Given the description of an element on the screen output the (x, y) to click on. 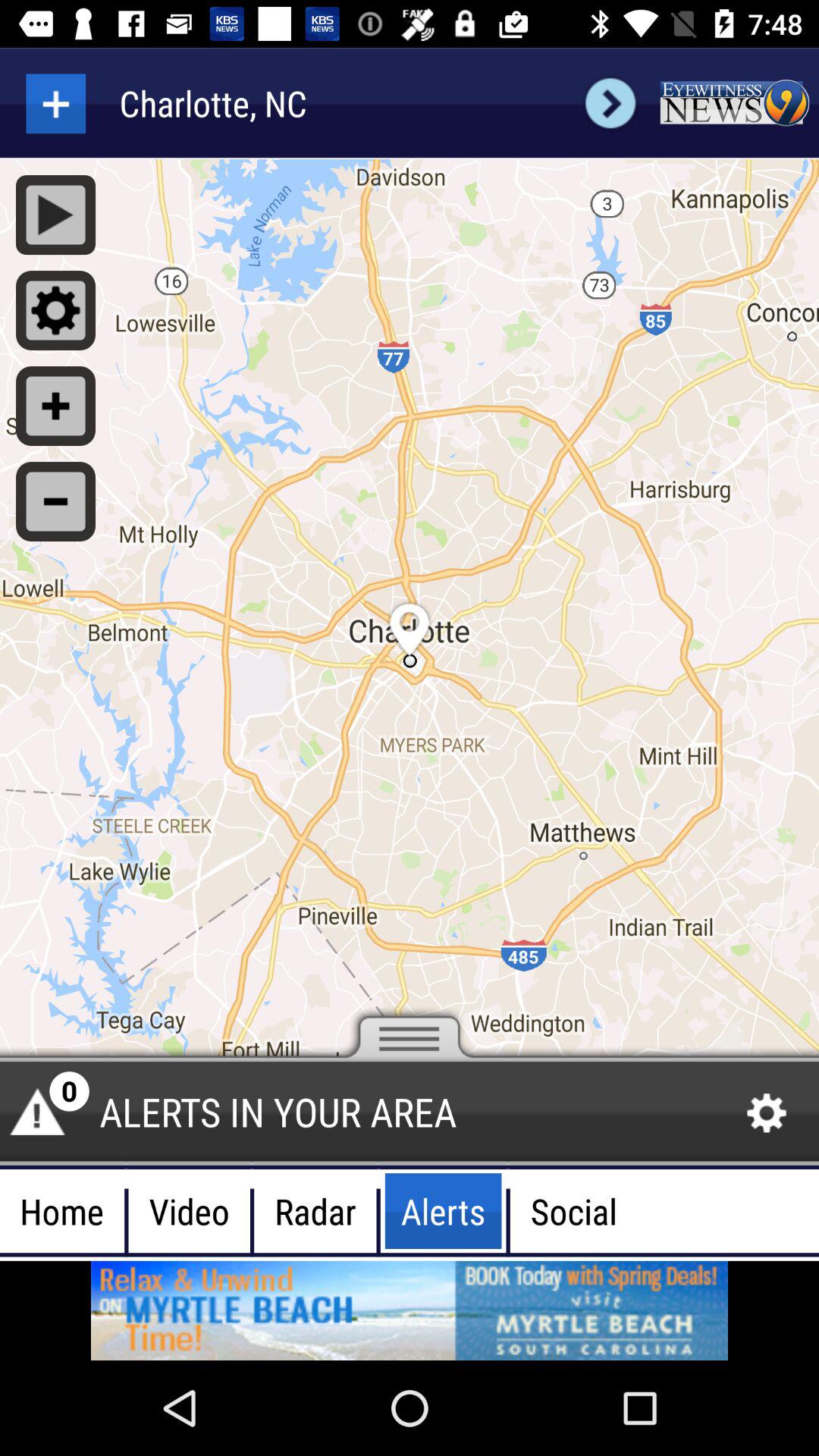
advertisement box (734, 103)
